Given the description of an element on the screen output the (x, y) to click on. 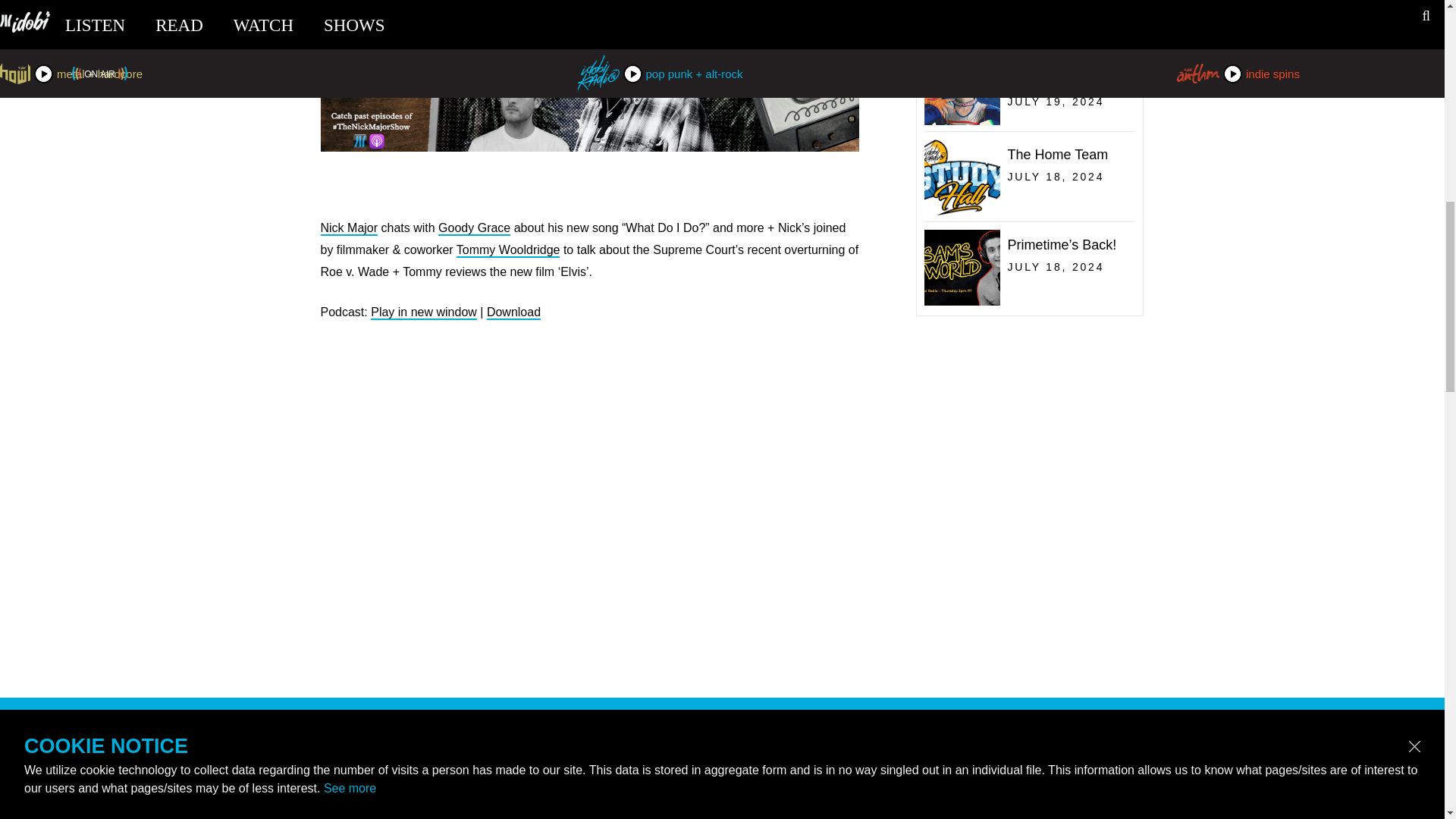
Play in new window (1024, 211)
Tommy Wooldridge (424, 312)
Nick Major (508, 250)
Goody Grace (348, 228)
Play in new window (474, 228)
Download (424, 312)
Download (513, 312)
